Given the description of an element on the screen output the (x, y) to click on. 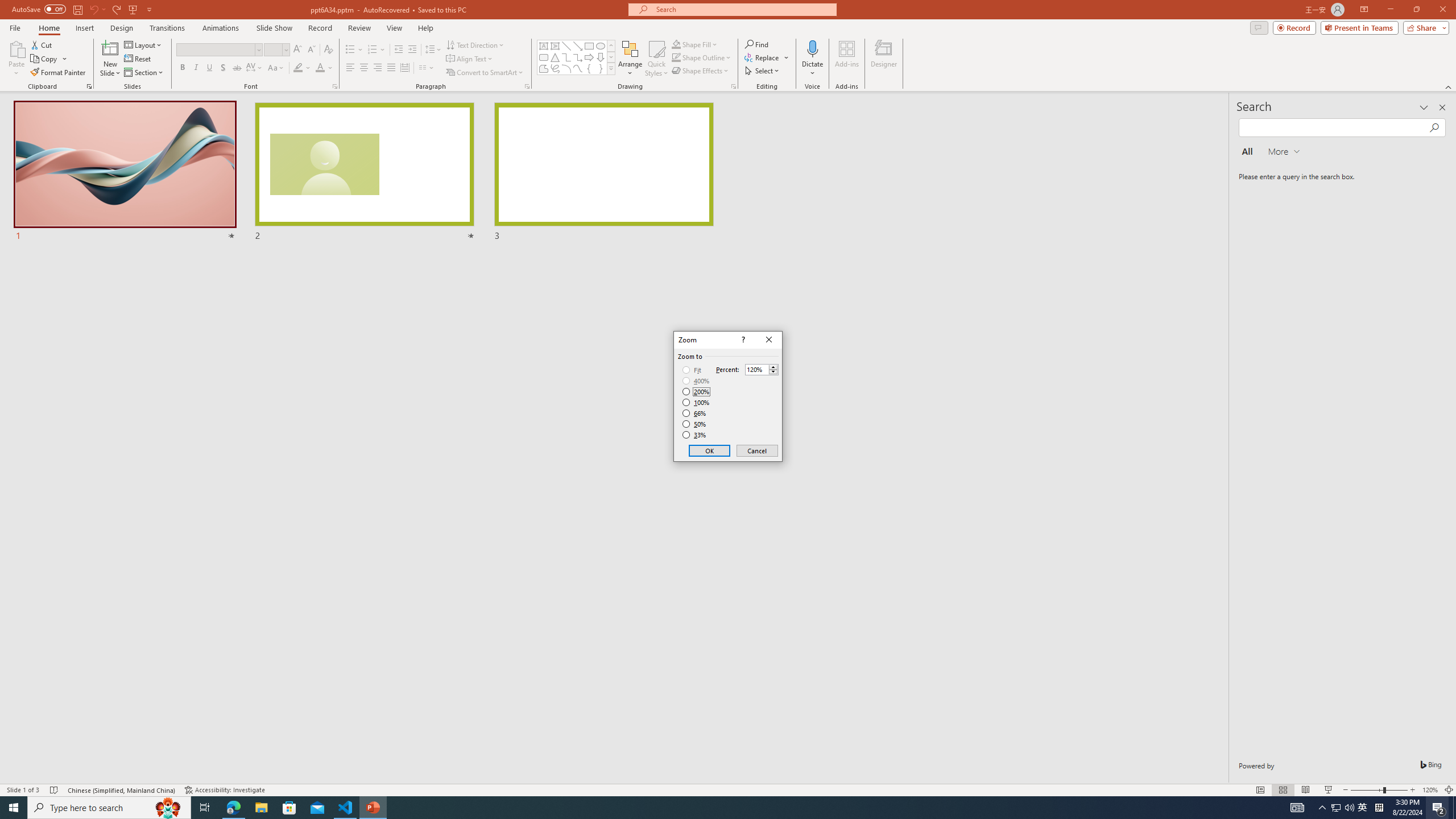
More (772, 366)
